Given the description of an element on the screen output the (x, y) to click on. 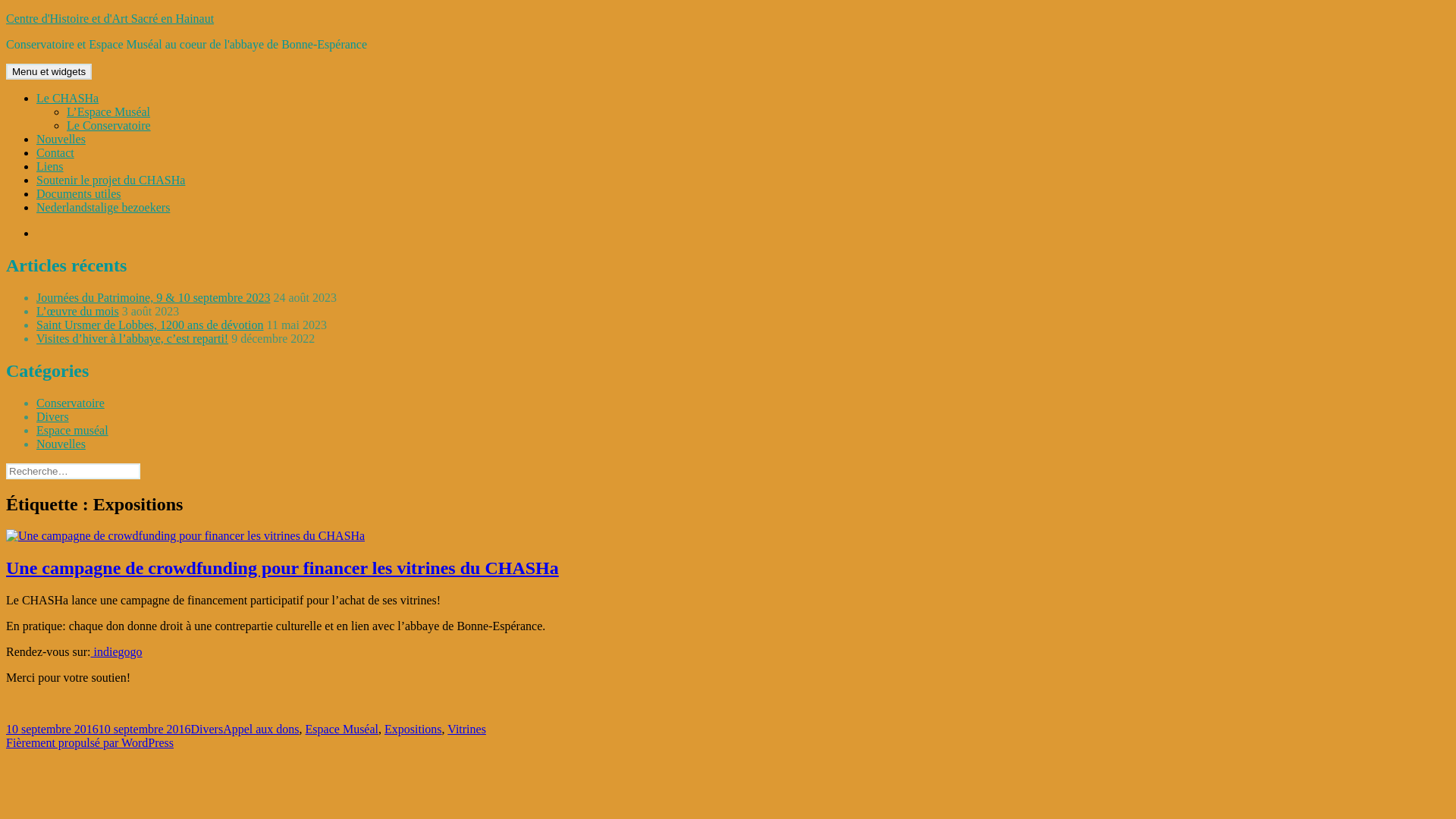
Divers Element type: text (207, 728)
Expositions Element type: text (413, 728)
10 septembre 201610 septembre 2016 Element type: text (98, 728)
Nouvelles Element type: text (60, 138)
Conservatoire Element type: text (70, 402)
Contact Element type: text (55, 152)
Aller au contenu Element type: text (5, 11)
Nederlandstalige bezoekers Element type: text (102, 206)
Soutenir le projet du CHASHa Element type: text (110, 179)
Vitrines Element type: text (466, 728)
Rechercher Element type: text (139, 462)
Appel aux dons Element type: text (260, 728)
Le CHASHa Element type: text (67, 97)
Le Conservatoire Element type: text (108, 125)
Menu et widgets Element type: text (48, 71)
Documents utiles Element type: text (78, 193)
Nouvelles Element type: text (60, 443)
Divers Element type: text (52, 416)
indiegogo Element type: text (116, 651)
Liens Element type: text (49, 166)
